Given the description of an element on the screen output the (x, y) to click on. 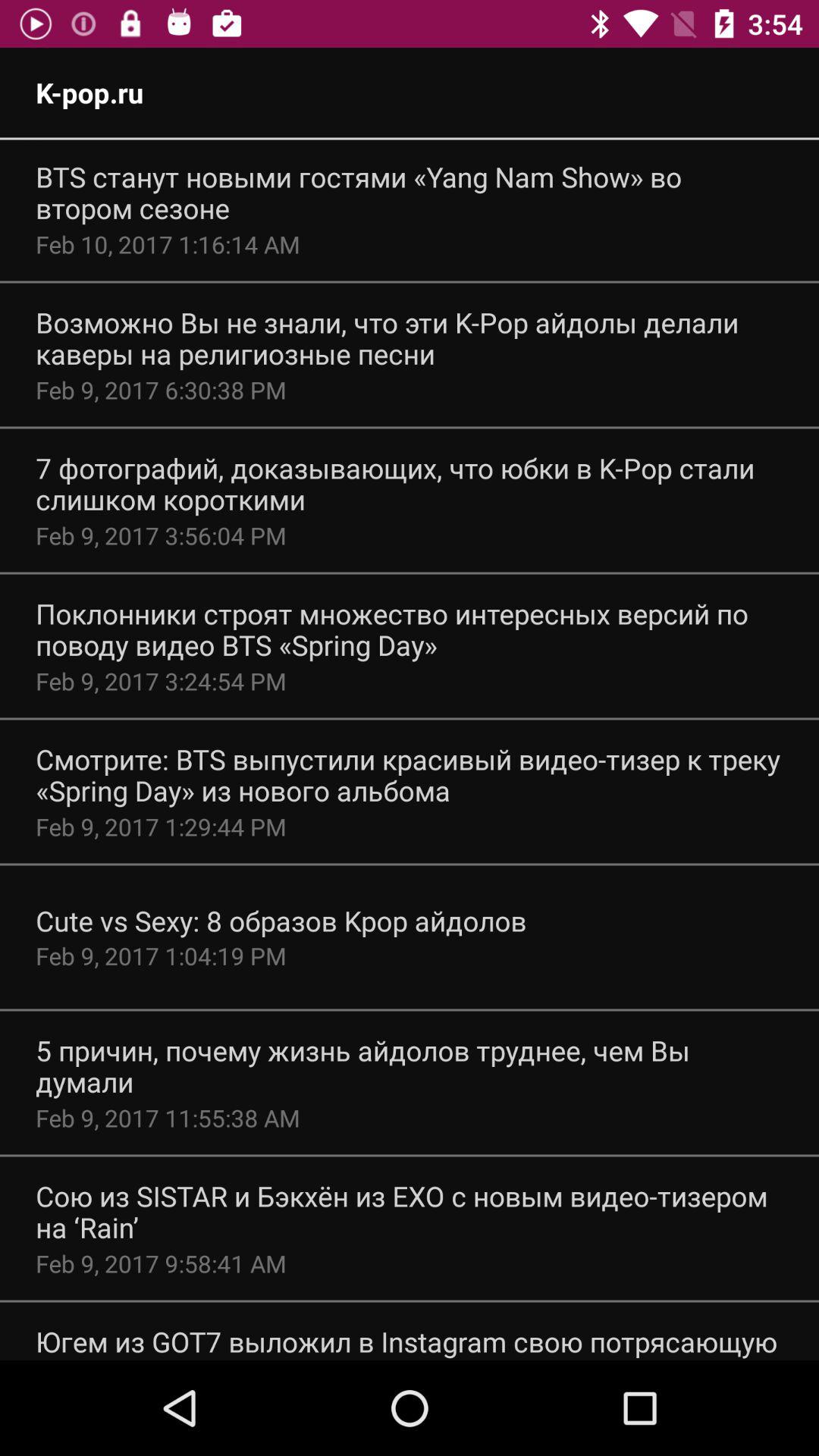
press icon above feb 9 2017 app (280, 920)
